Given the description of an element on the screen output the (x, y) to click on. 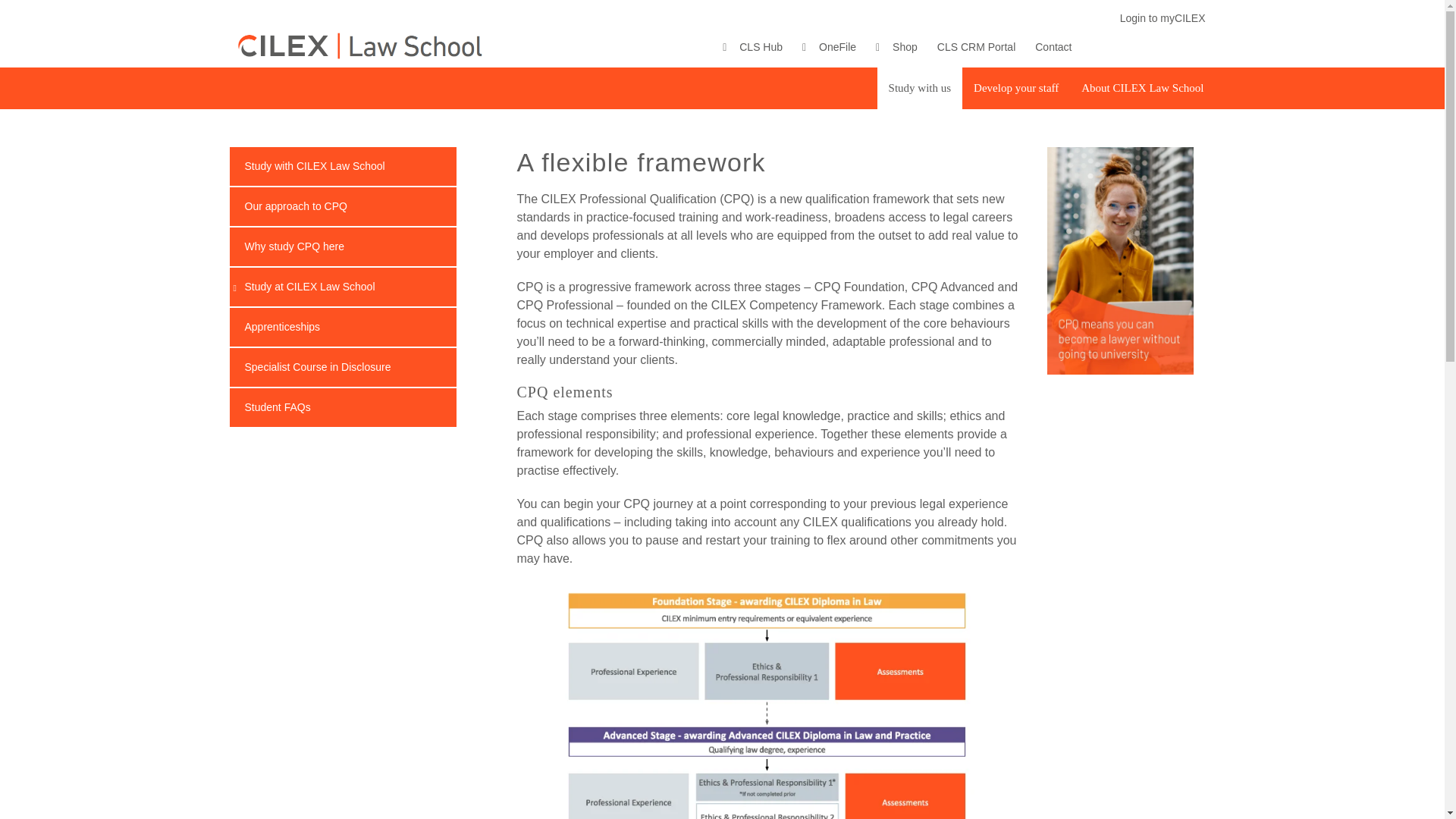
Study with us (920, 87)
CLS Hub (752, 46)
Twitter (1131, 50)
YouTube (1198, 50)
Login to myCILEX (1162, 18)
OneFile (829, 46)
Shop (896, 46)
CLS CPQ skyscraper (1119, 260)
Contact (1053, 46)
Facebook (1099, 50)
About CILEX Law School (1142, 87)
Linkedin (1165, 50)
CPQ Elements diagram (768, 701)
Contact (1053, 46)
OneFile (829, 46)
